Given the description of an element on the screen output the (x, y) to click on. 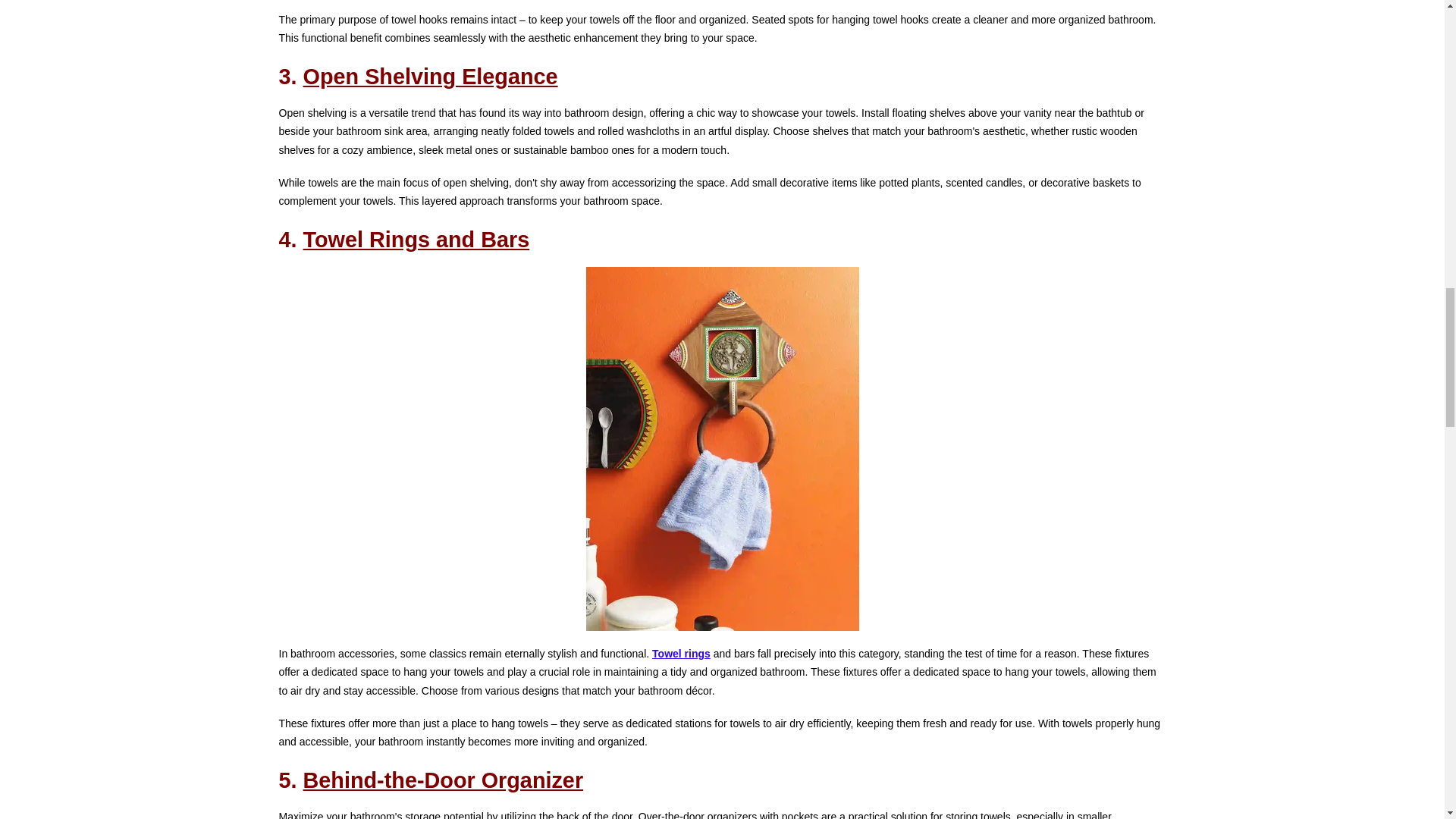
Towel rings (681, 653)
Towel Rings (681, 653)
